Given the description of an element on the screen output the (x, y) to click on. 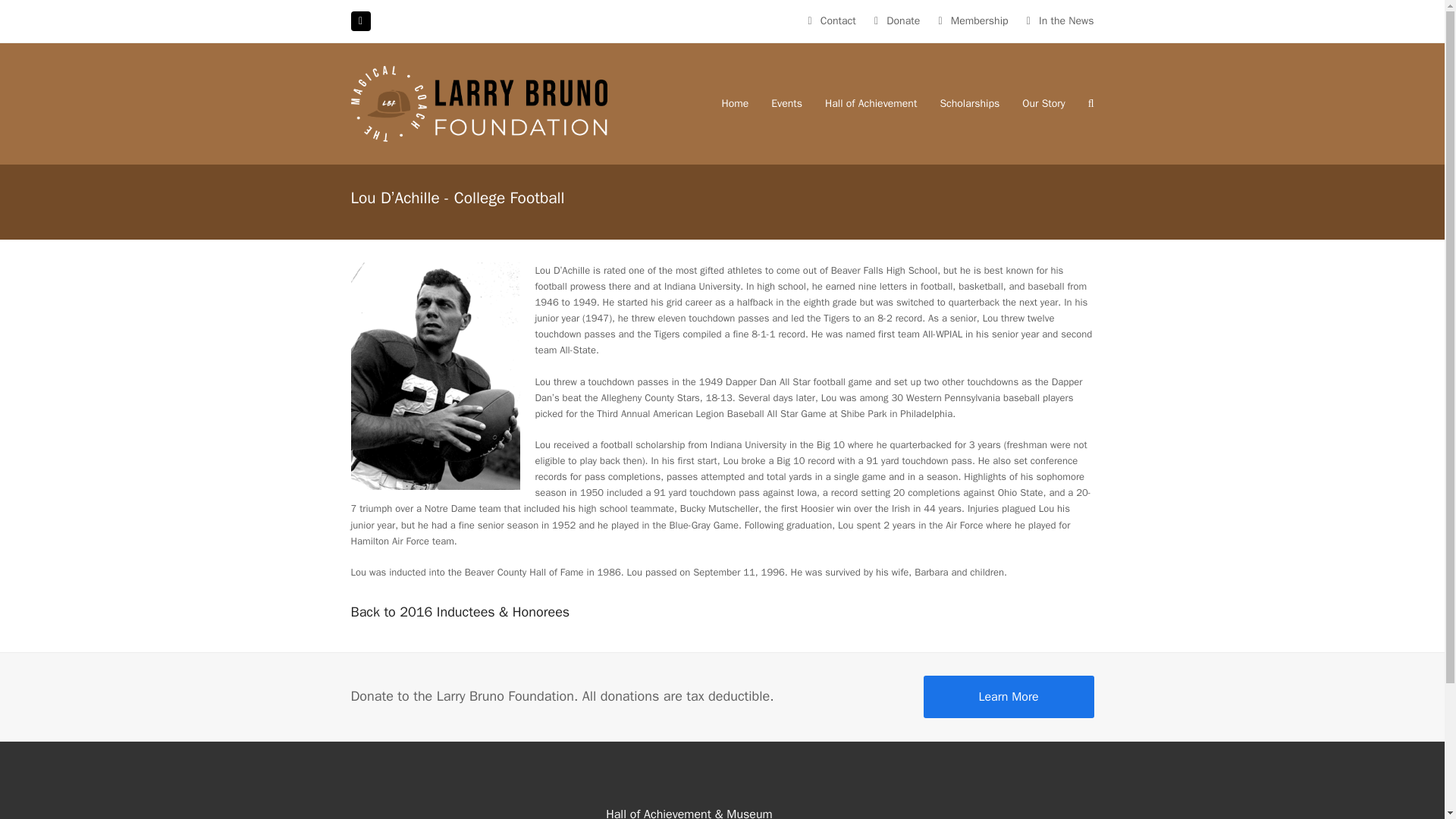
Home (735, 103)
Scholarships (969, 103)
Hall of Achievement (870, 103)
Facebook (359, 21)
In the News (1066, 20)
Events (786, 103)
Membership (979, 20)
Our Story (1042, 103)
Home (735, 103)
Contact (838, 20)
Learn More (1008, 696)
Donate (903, 20)
Scholarships (969, 103)
Hall of Achievement (870, 103)
Our Story (1042, 103)
